Given the description of an element on the screen output the (x, y) to click on. 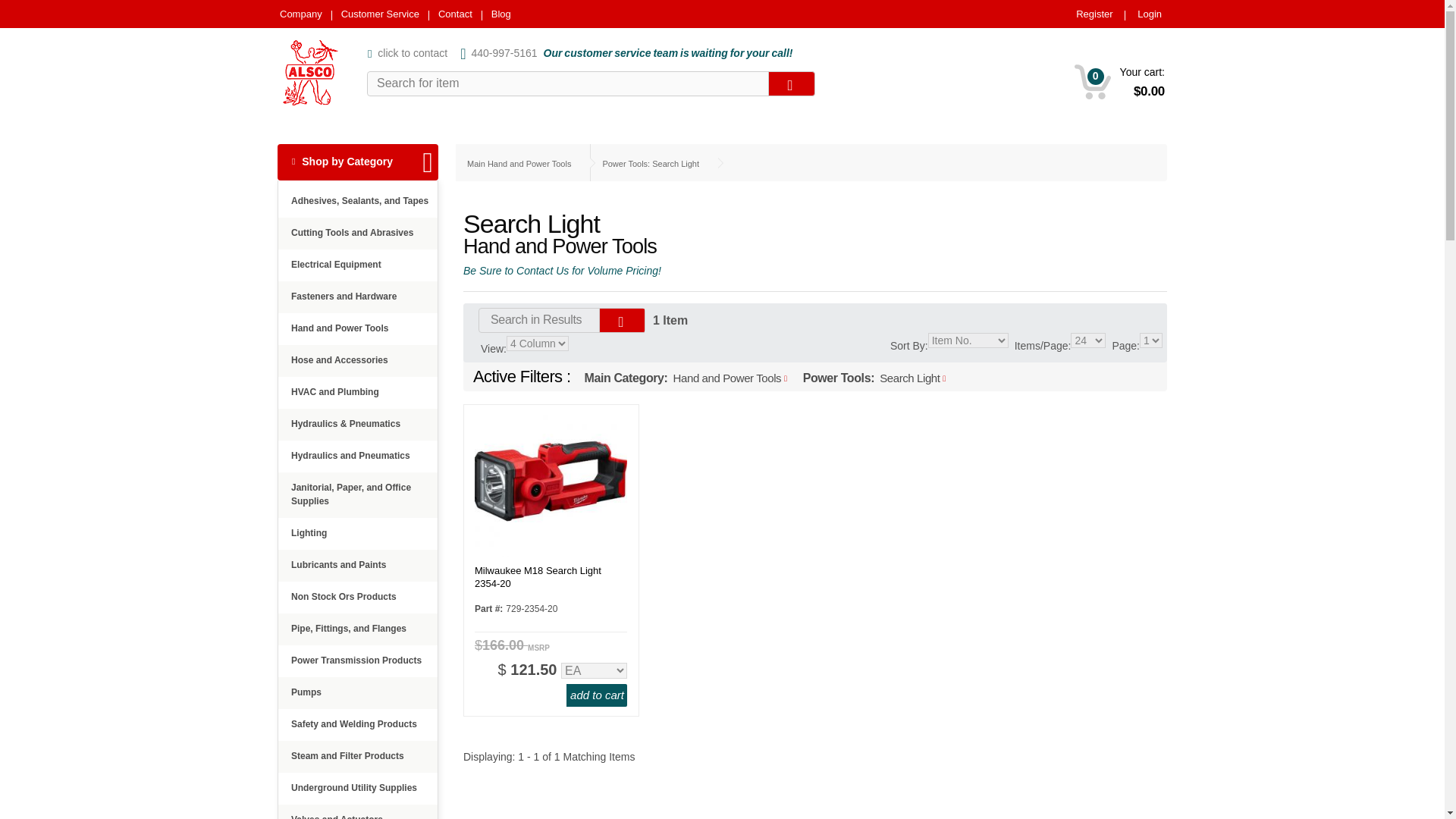
Register (1093, 13)
Login (1149, 13)
Company (300, 13)
Customer Service (379, 13)
Blog (501, 13)
Contact (454, 13)
